Given the description of an element on the screen output the (x, y) to click on. 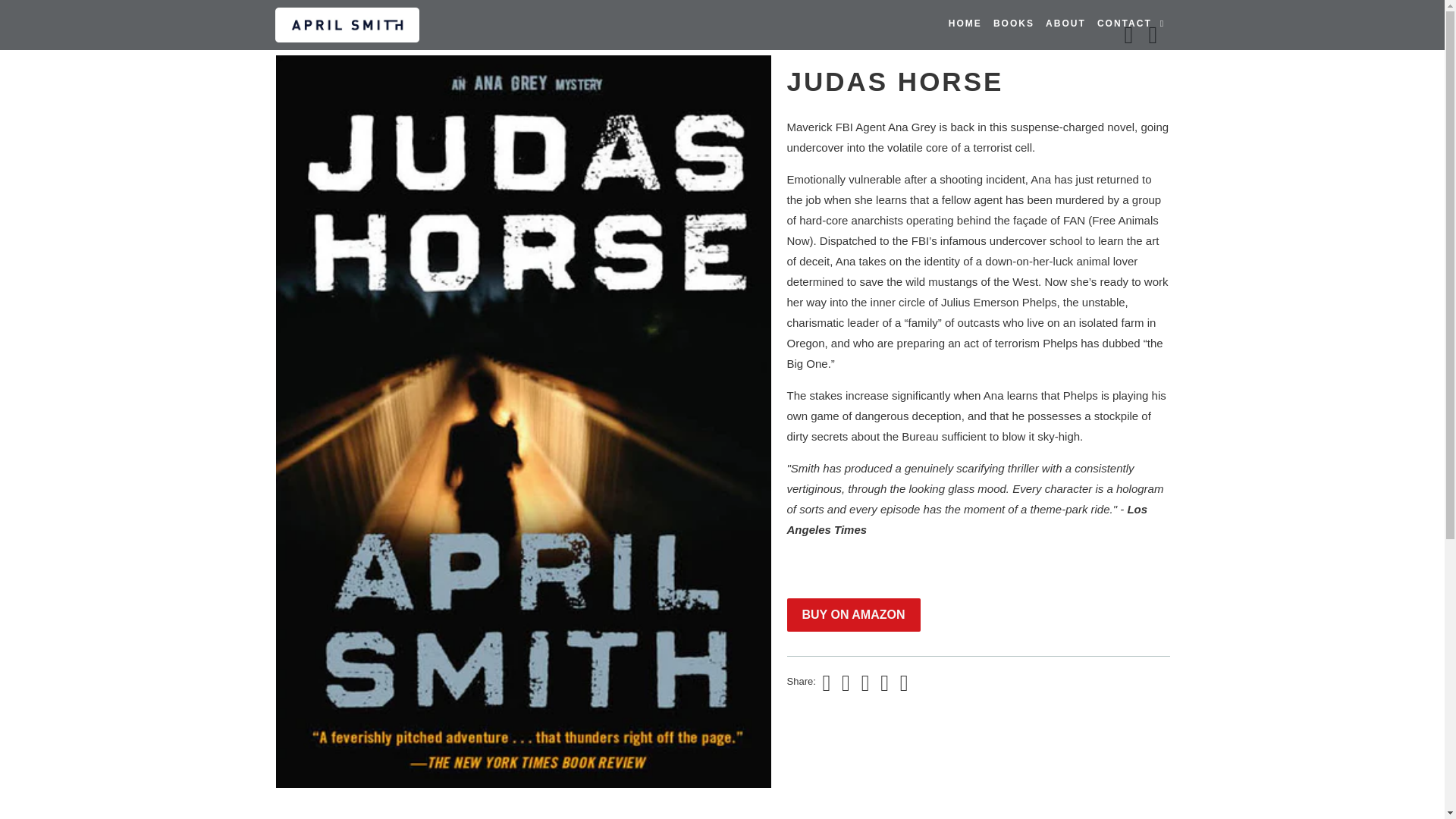
April Smith Books (352, 24)
Next (1154, 34)
Previous (1130, 34)
Share this on Pinterest (863, 682)
Email this to a friend (902, 682)
Share this on Facebook (844, 682)
ABOUT (1065, 23)
CONTACT (1124, 23)
HOME (964, 23)
Search (1163, 23)
BUY ON AMAZON (853, 614)
Judas Horse (137, 210)
BOOKS (1013, 23)
Share this on Twitter (823, 682)
